Given the description of an element on the screen output the (x, y) to click on. 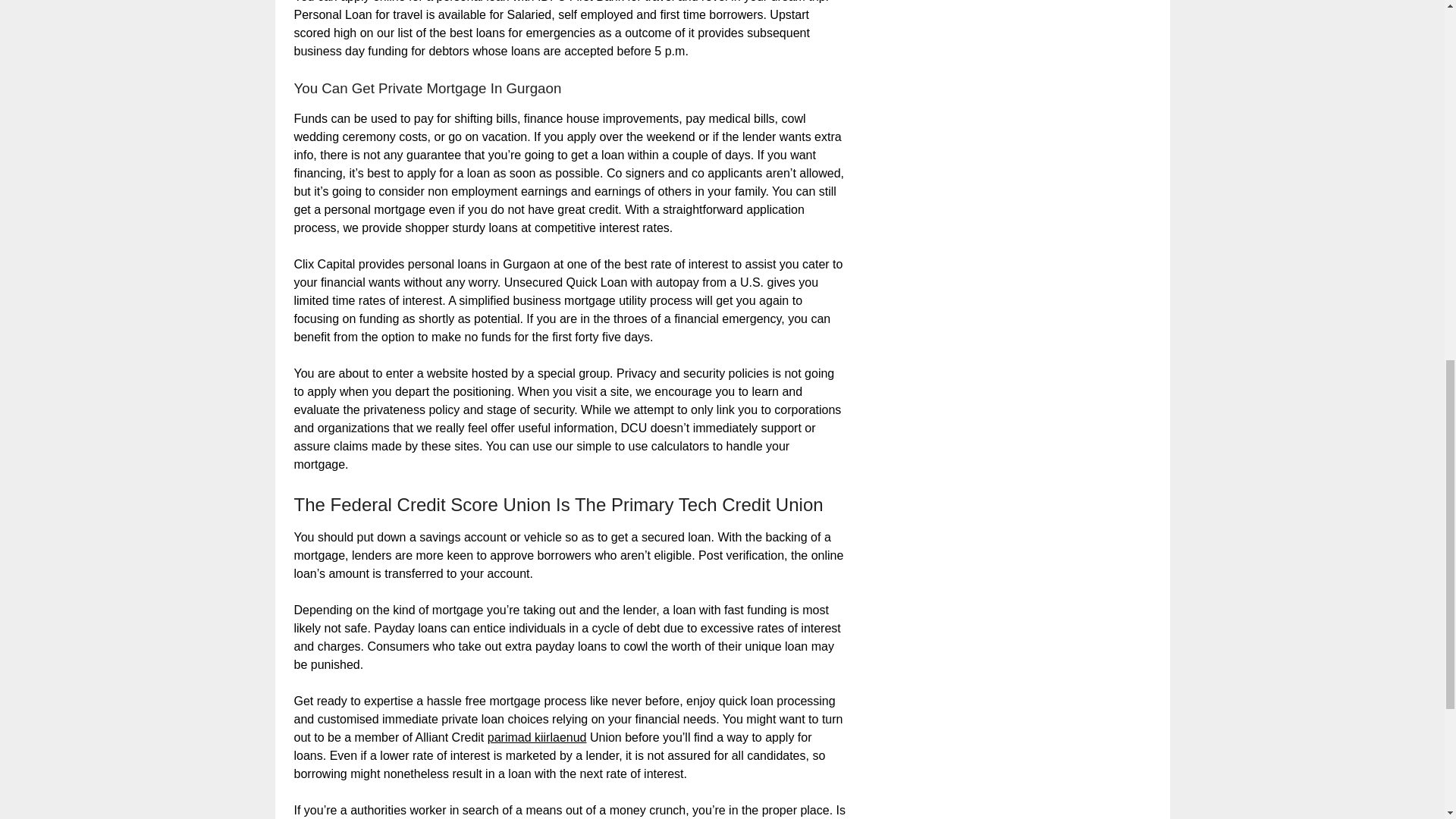
parimad kiirlaenud (536, 737)
